Given the description of an element on the screen output the (x, y) to click on. 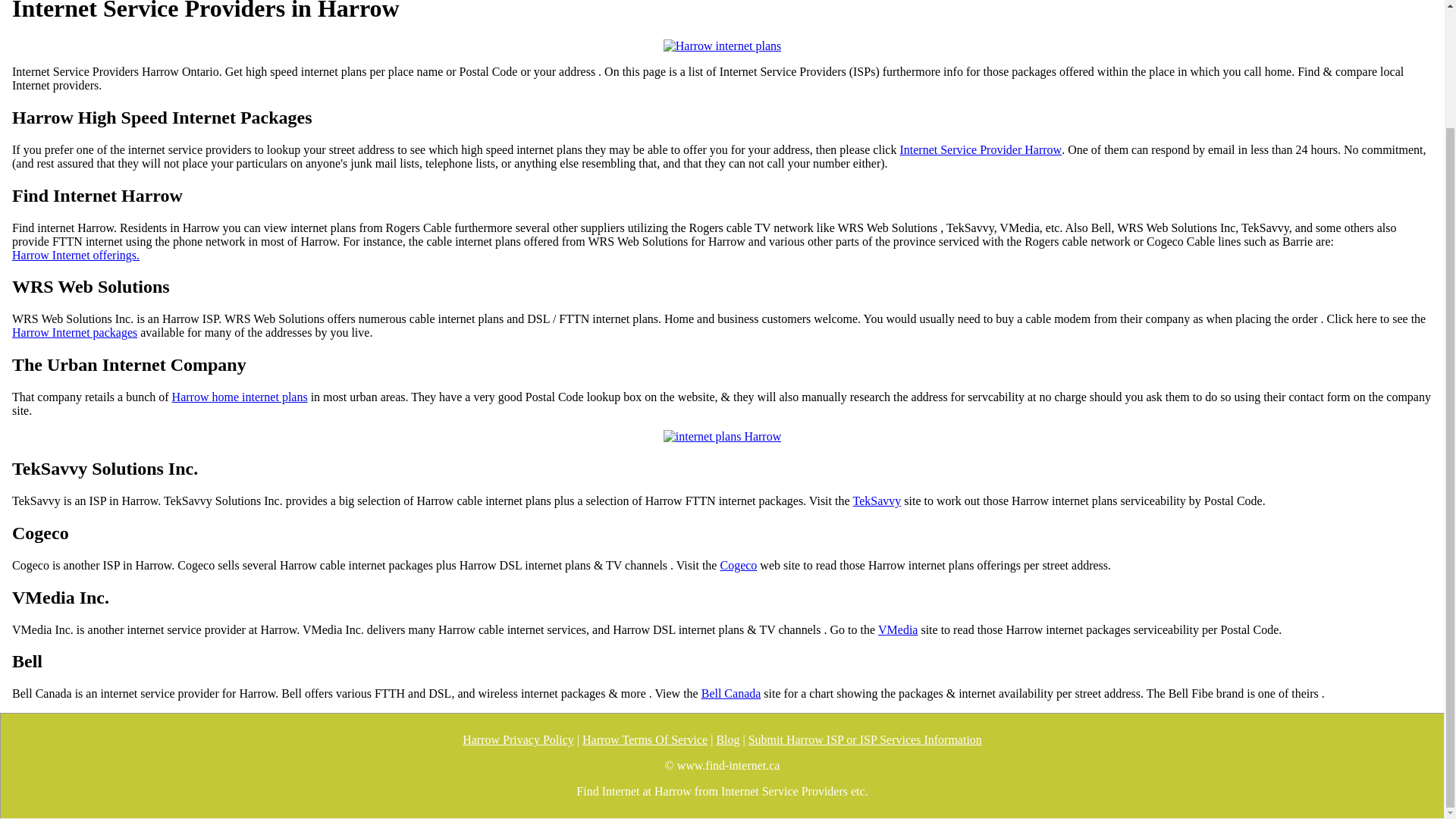
Bell Canada (731, 694)
Internet Service Provider Harrow (980, 150)
Harrow Internet packages (73, 332)
Cogeco (738, 565)
Harrow Privacy Policy (518, 739)
Harrow Internet offerings. (75, 255)
TekSavvy (877, 500)
Harrow Terms Of Service (644, 739)
Blog (727, 739)
Harrow home internet plans (239, 397)
Submit Harrow ISP or ISP Services Information (864, 739)
VMedia (897, 630)
